Given the description of an element on the screen output the (x, y) to click on. 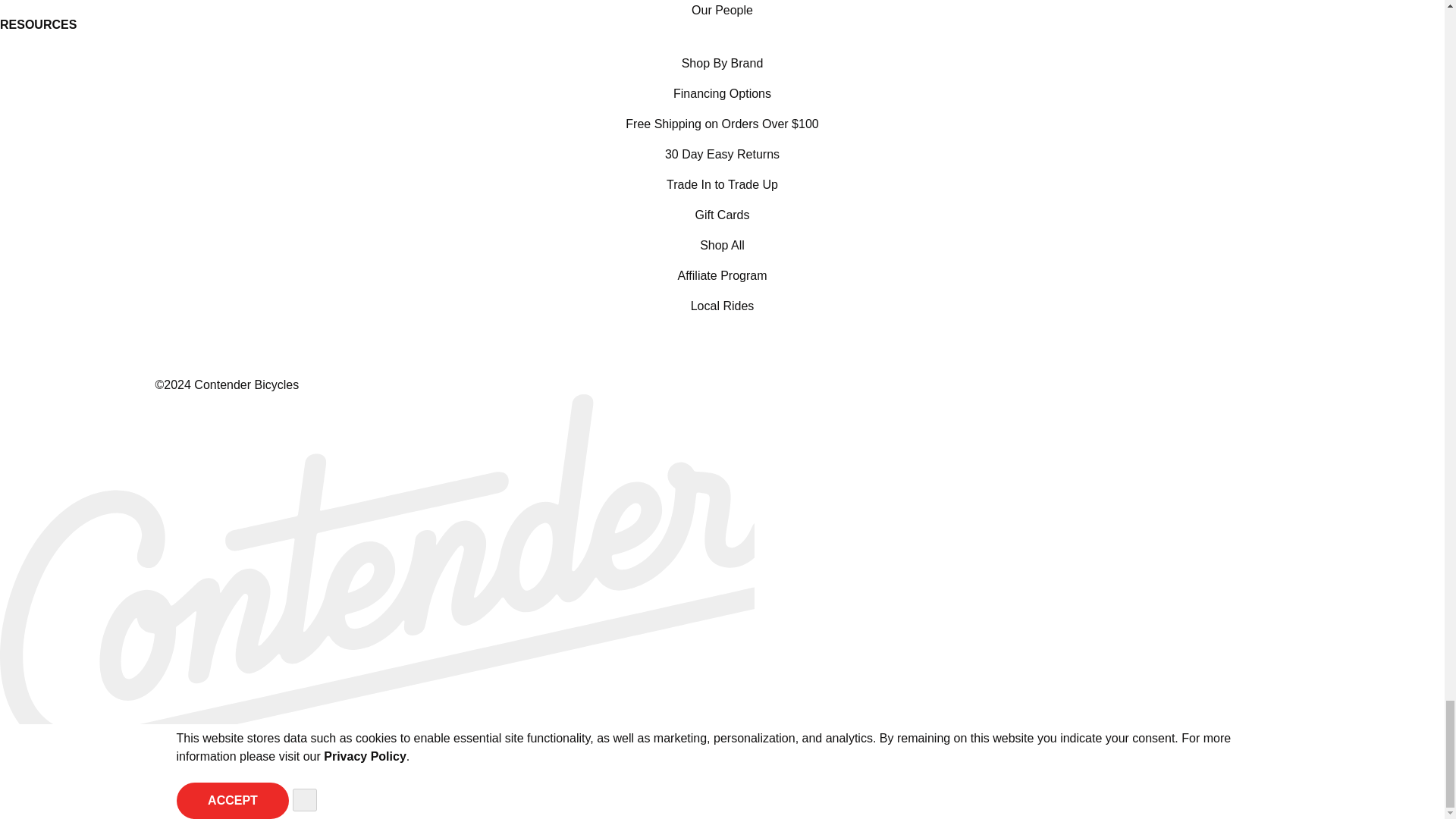
PRIVACY POLICY (364, 756)
